Given the description of an element on the screen output the (x, y) to click on. 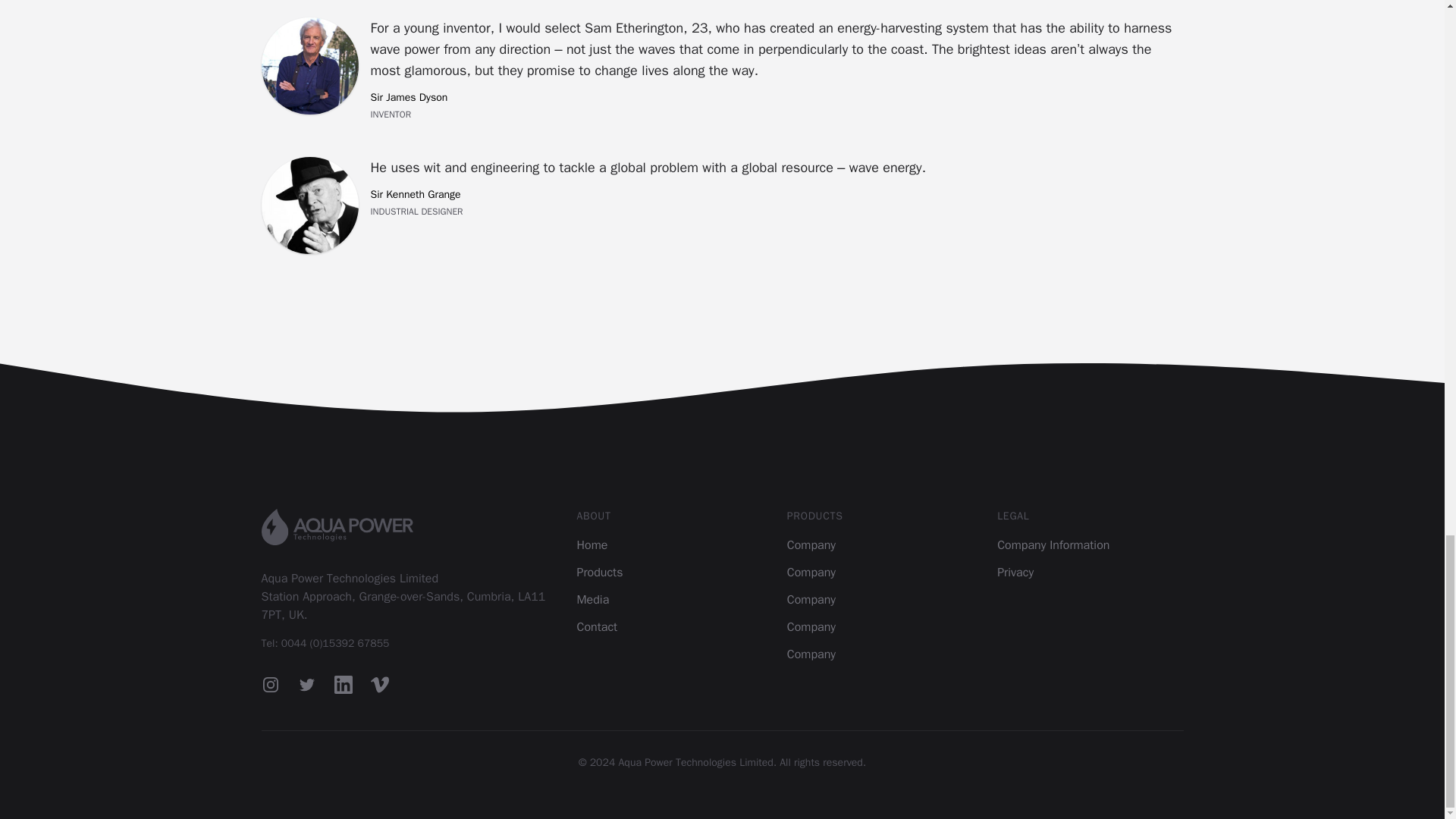
Company (811, 626)
Privacy (1015, 572)
Company (811, 544)
Company Information (1053, 544)
Products (599, 572)
Vimeo (378, 684)
Twitter (306, 684)
Company (811, 654)
Media (592, 599)
Instagram (269, 684)
Company (811, 599)
Linkedin (342, 684)
Contact (596, 626)
Home (591, 544)
Company (811, 572)
